Given the description of an element on the screen output the (x, y) to click on. 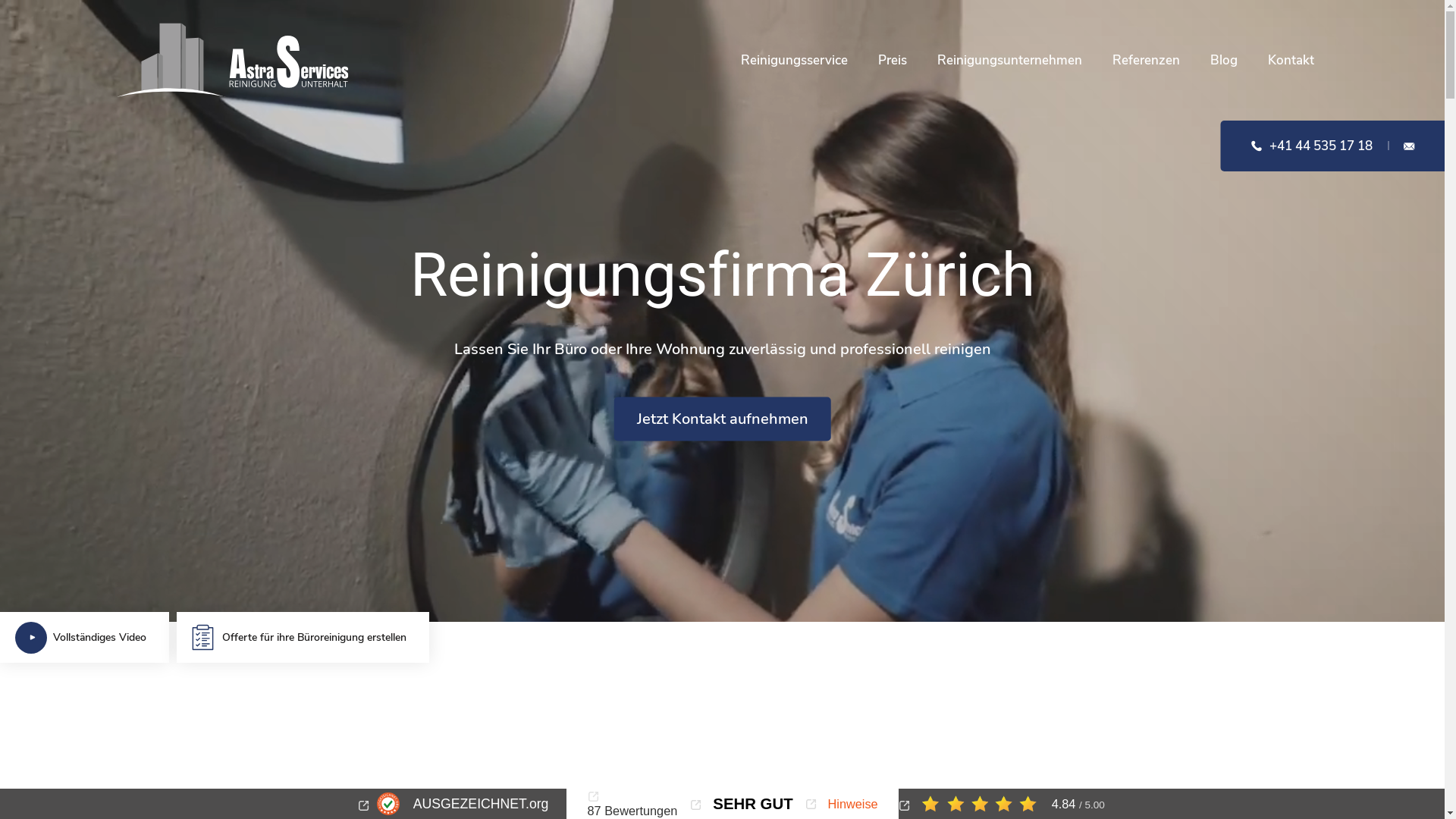
Preis Element type: text (892, 60)
Jetzt Kontakt aufnehmen Element type: text (722, 419)
Kontakt Element type: text (1290, 60)
SEHR GUT Element type: text (741, 803)
Referenzen Element type: text (1145, 60)
Reinigungsservice Element type: text (793, 60)
+41 44 535 17 18 Element type: text (1311, 145)
Blog Element type: text (1223, 60)
Astra ServicesReinigung & Unterhalt  Element type: hover (231, 59)
Hinweise Element type: text (841, 803)
87 Bewertungen Element type: text (631, 803)
Reinigungsunternehmen Element type: text (1009, 60)
info@astra-services.ch Element type: text (1408, 145)
